Given the description of an element on the screen output the (x, y) to click on. 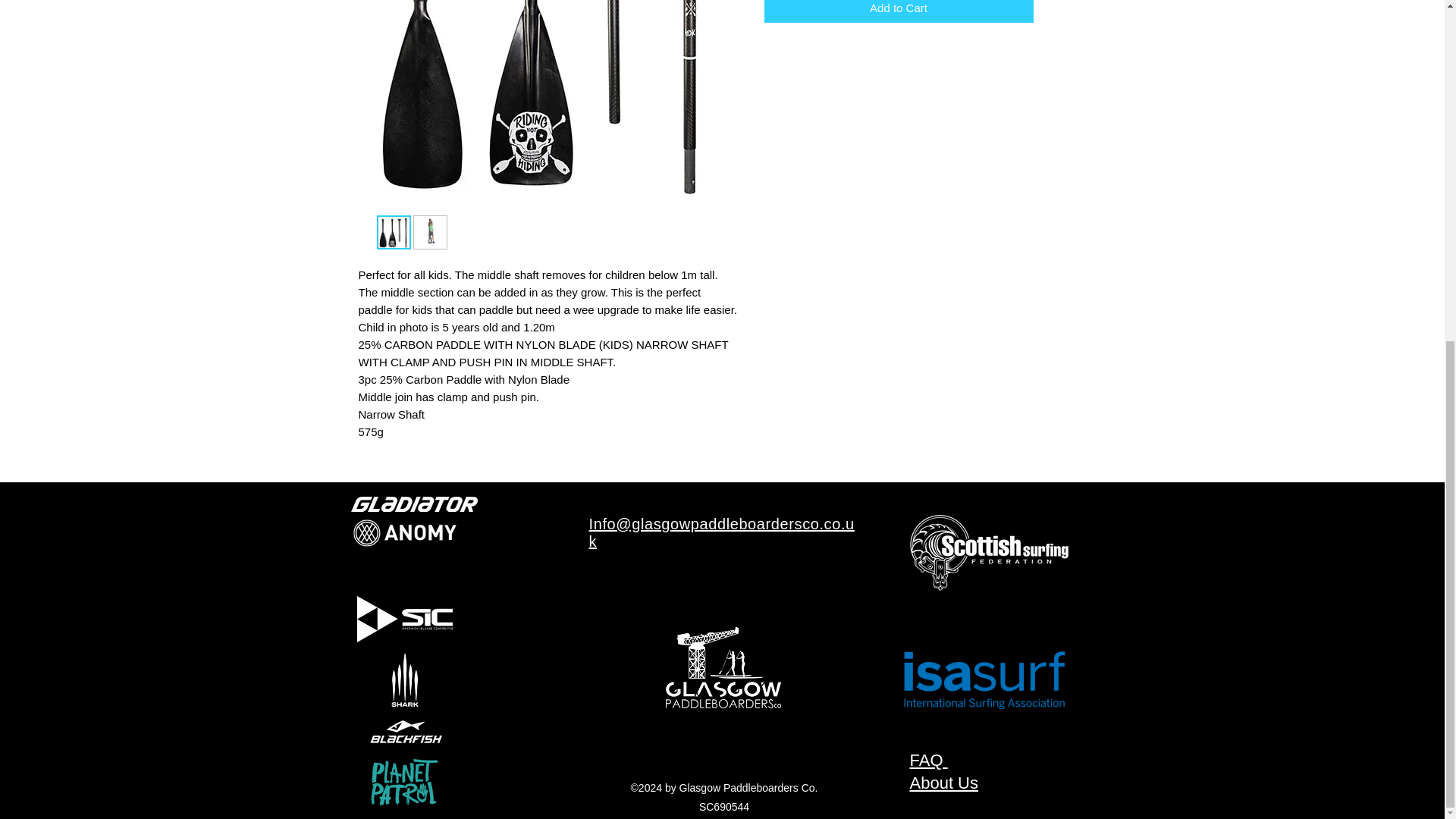
0D70BEC9-2B94-444D-8D90-CCD495B2DDF2.png (988, 552)
